Given the description of an element on the screen output the (x, y) to click on. 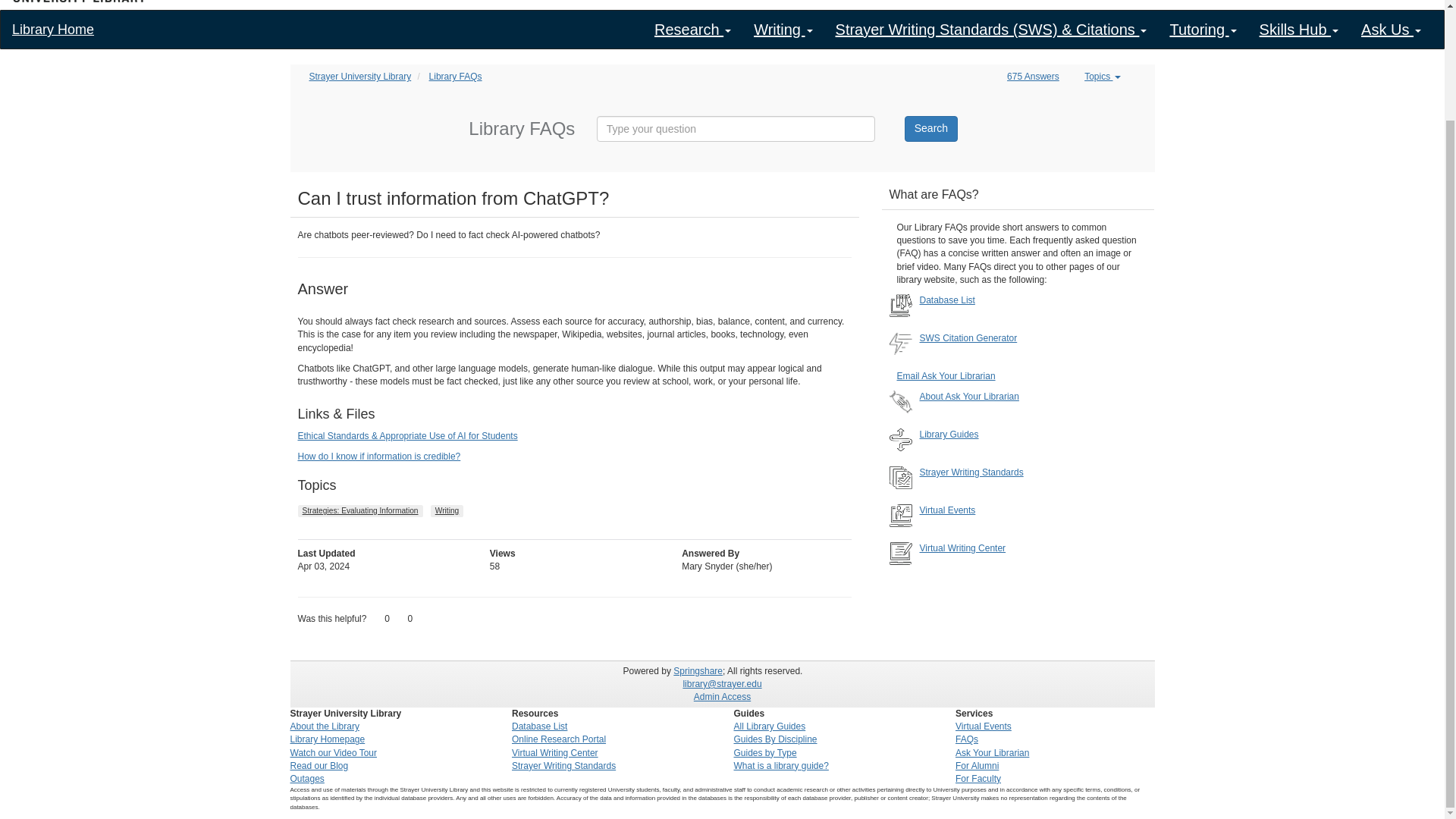
Opens in new window (378, 456)
Library Home (52, 29)
Opens in new window (406, 435)
Research (692, 29)
Writing (783, 29)
Skills Hub (1298, 29)
Tutoring (1202, 29)
